Given the description of an element on the screen output the (x, y) to click on. 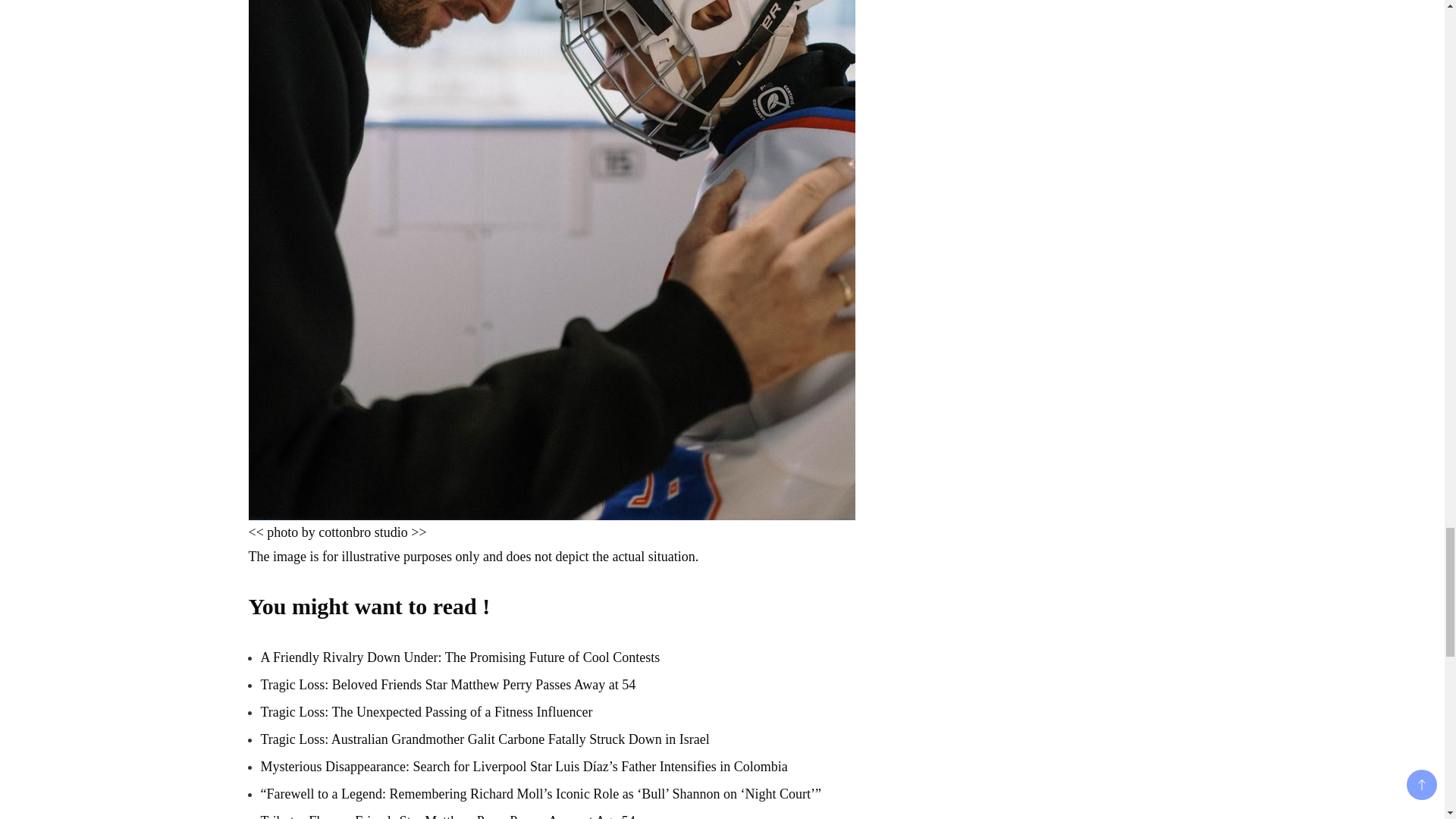
Tragic Loss: The Unexpected Passing of a Fitness Influencer (426, 711)
